Given the description of an element on the screen output the (x, y) to click on. 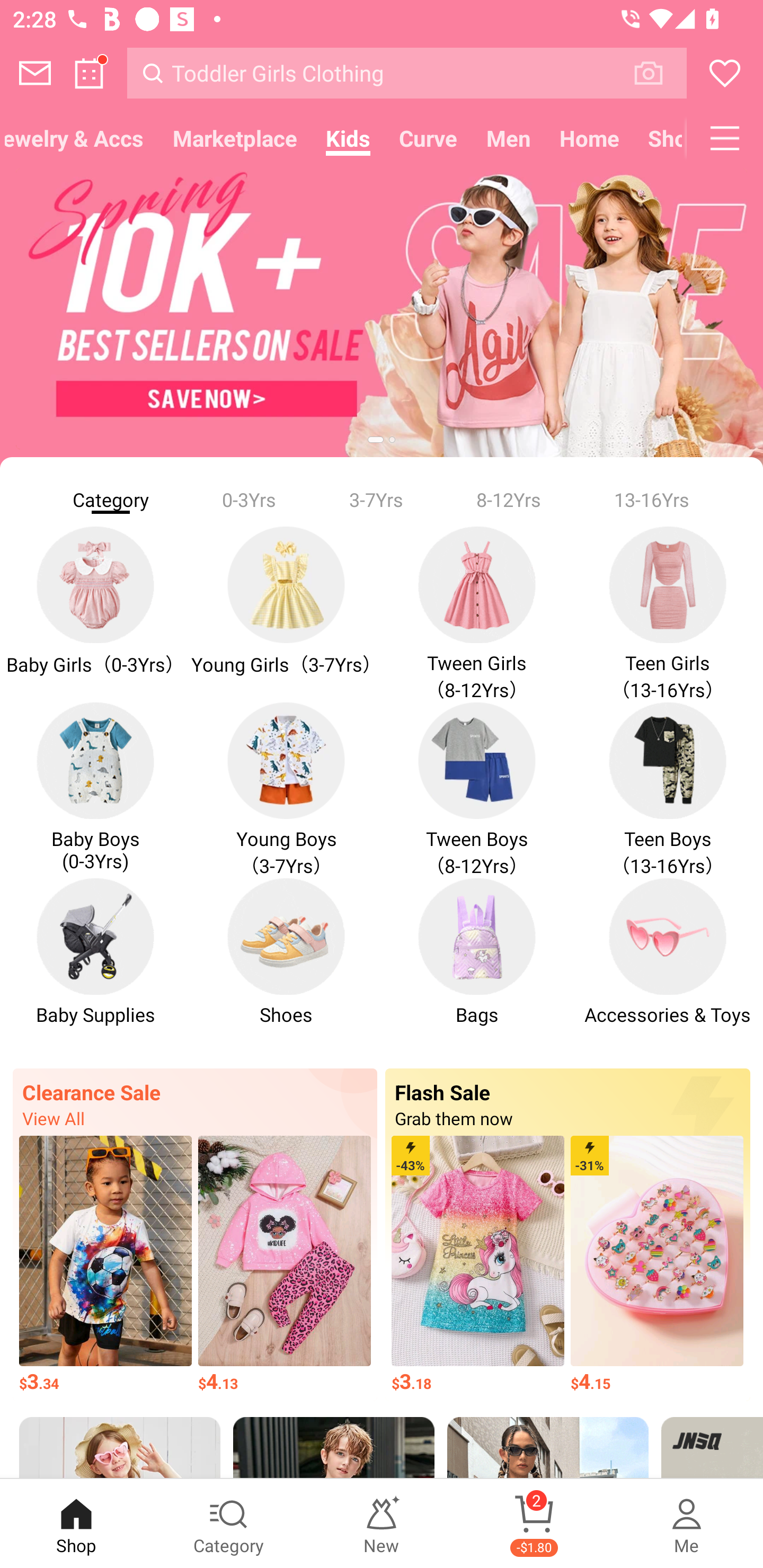
Wishlist (724, 72)
VISUAL SEARCH (657, 72)
Jewelry & Accs (79, 137)
Marketplace (234, 137)
Kids (347, 137)
Curve (428, 137)
Men (508, 137)
Home (589, 137)
0-3Yrs (249, 499)
3-7Yrs (376, 499)
8-12Yrs (508, 499)
13-16Yrs (651, 499)
Baby Girls（0-3Yrs） (95, 614)
Young Girls（3-7Yrs） (285, 614)
Tween Girls（8-12Yrs） (476, 614)
Teen Girls（13-16Yrs） (667, 614)
Baby Boys
(0-3Yrs) (95, 790)
Young Boys（3-7Yrs） (285, 790)
Tween Boys（8-12Yrs） (476, 790)
Teen Boys（13-16Yrs） (667, 790)
Baby Supplies (95, 963)
Shoes (285, 963)
Bags (476, 963)
Accessories & Toys (667, 963)
$3.34 Price $3.34 (105, 1265)
$4.13 Price $4.13 (284, 1265)
-43% $3.18 Price $3.18 (477, 1265)
-31% $4.15 Price $4.15 (656, 1265)
Category (228, 1523)
New (381, 1523)
Cart 2 -$1.80 (533, 1523)
Me (686, 1523)
